Given the description of an element on the screen output the (x, y) to click on. 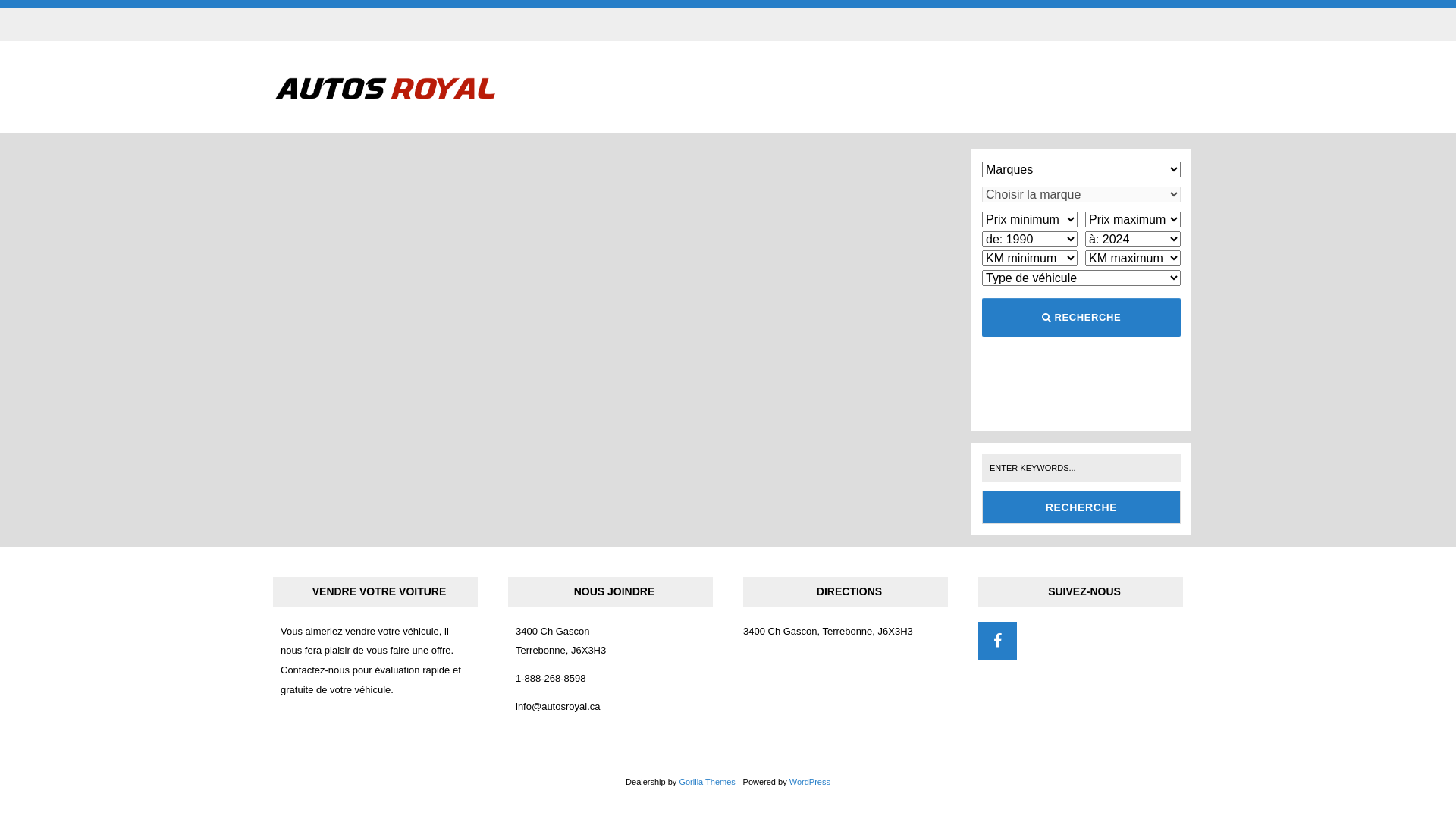
AUTOS ROYAL Element type: text (404, 118)
RECHERCHE Element type: text (1081, 317)
Gorilla Themes Element type: text (706, 781)
WordPress Element type: text (809, 781)
Recherche Element type: text (1081, 507)
